Given the description of an element on the screen output the (x, y) to click on. 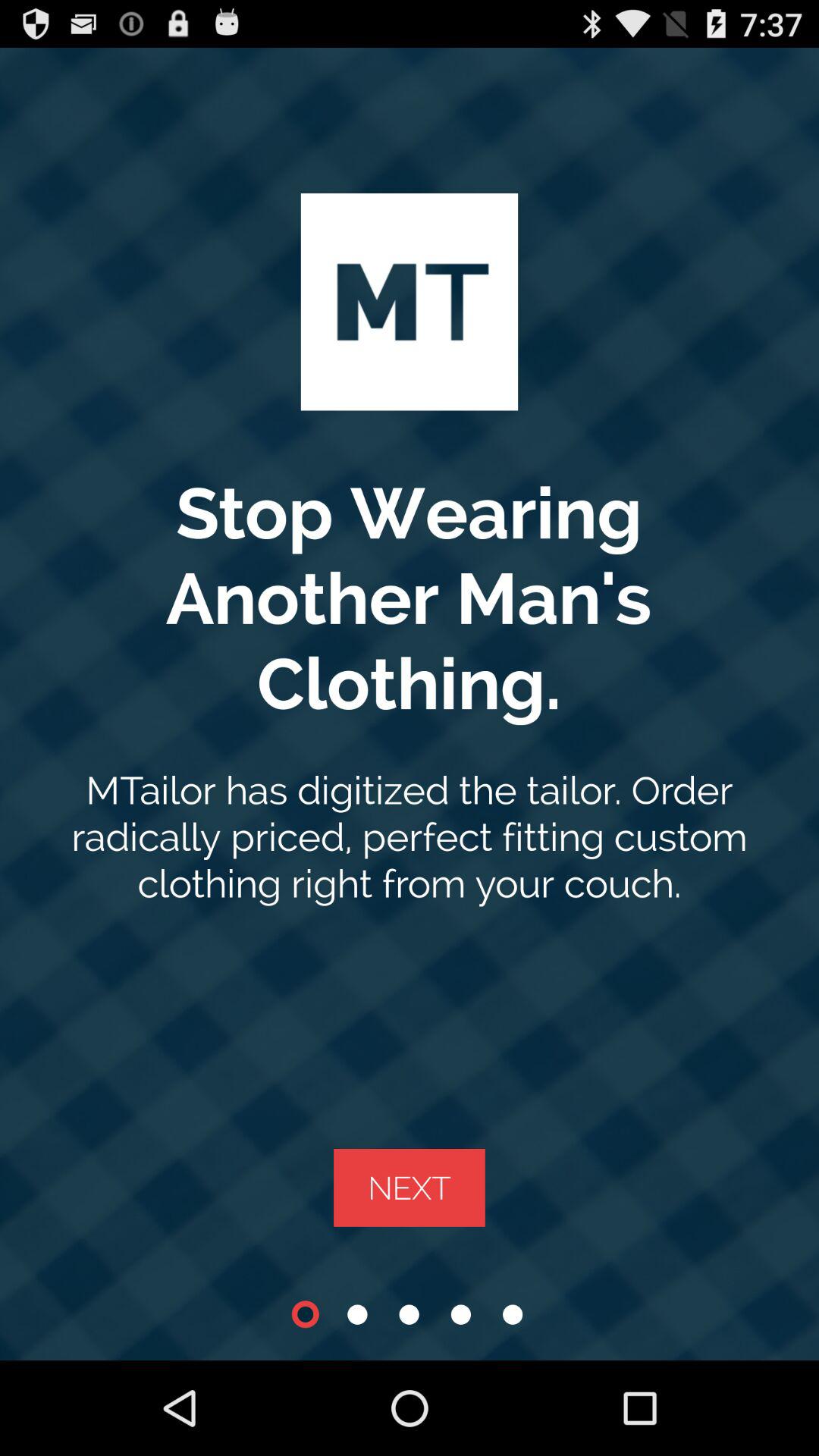
tap icon below the mtailor has digitized item (409, 1187)
